Given the description of an element on the screen output the (x, y) to click on. 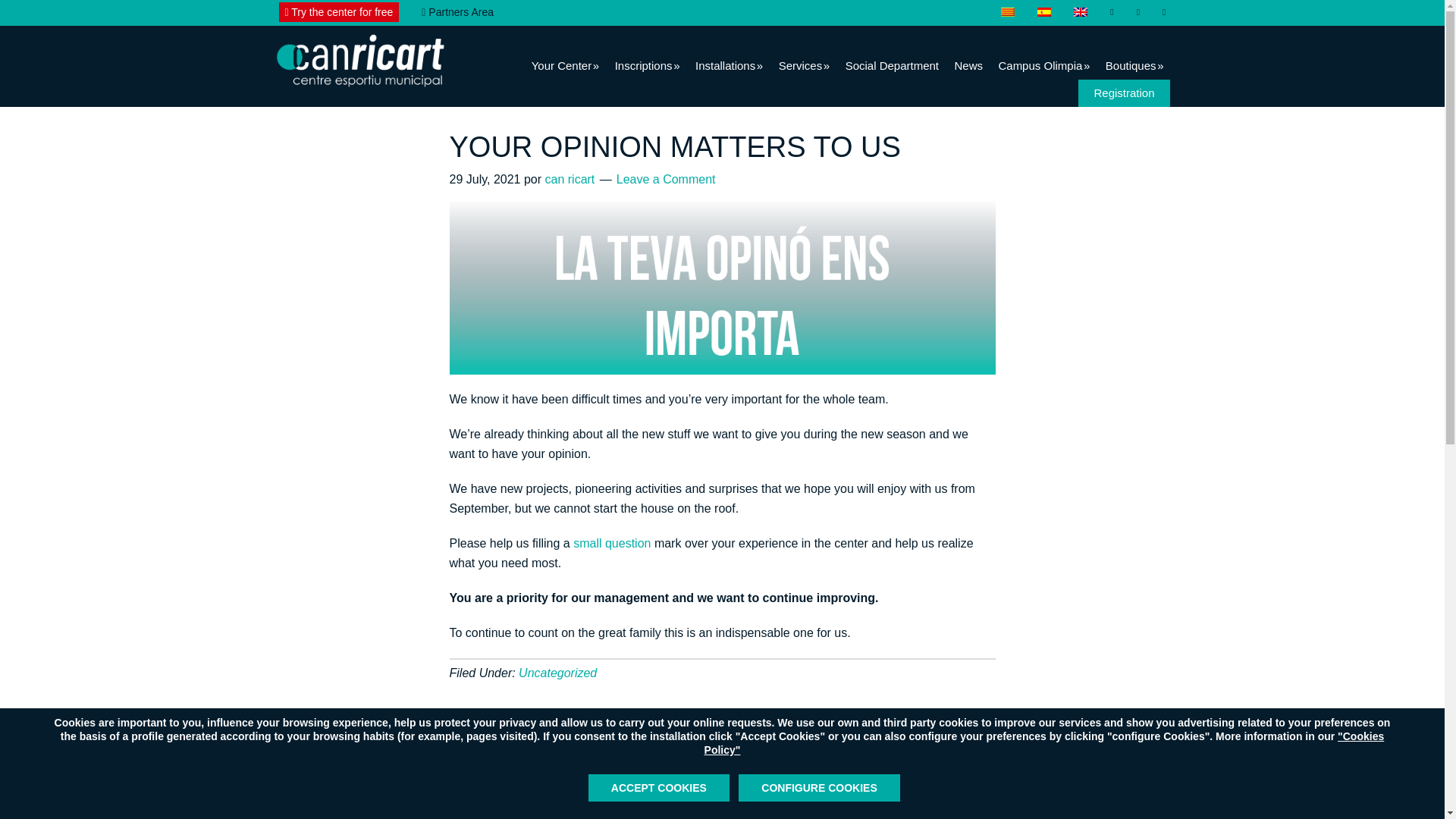
Try the center for free (338, 12)
Partners Area (457, 12)
Social Department (892, 65)
Your Center (565, 65)
CEM Can Ricart (360, 58)
Inscriptions (646, 65)
Boutiques (1134, 65)
Services (804, 65)
Installations (728, 65)
Campus Olimpia (1043, 65)
News (967, 65)
